Given the description of an element on the screen output the (x, y) to click on. 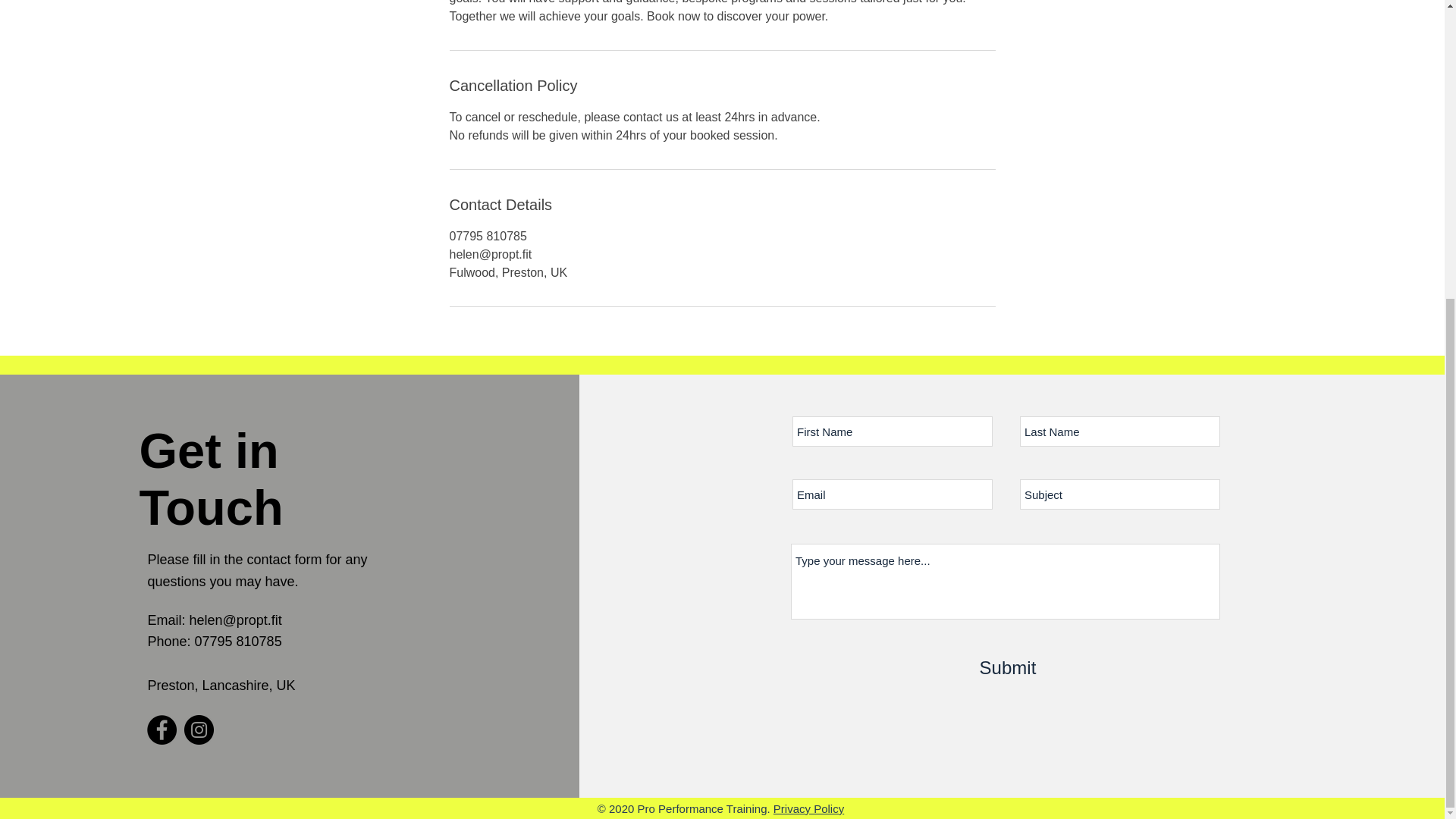
Privacy Policy (808, 808)
Submit (1008, 667)
